Given the description of an element on the screen output the (x, y) to click on. 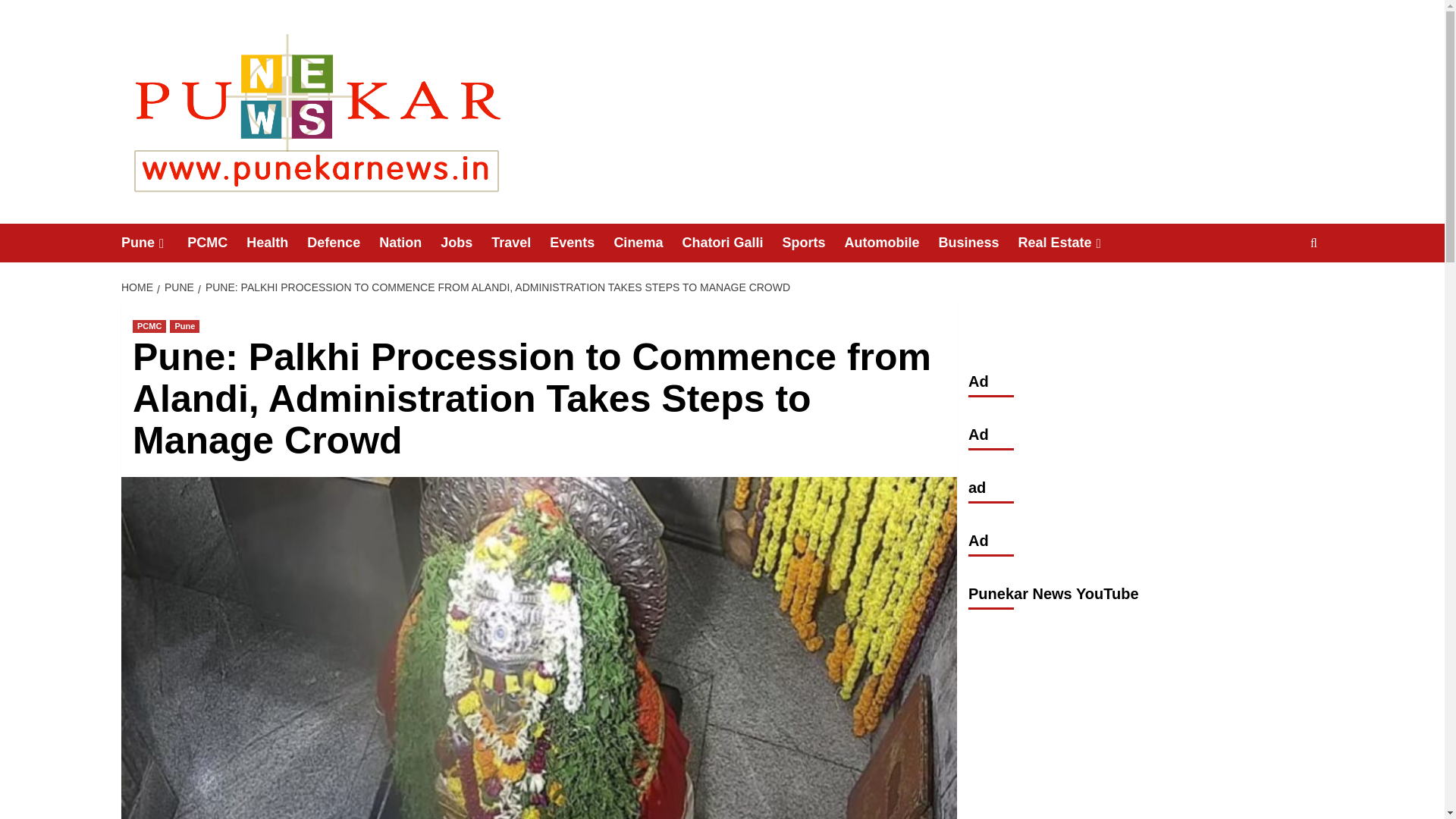
Events (581, 242)
PUNE (177, 287)
Chatori Galli (731, 242)
Health (276, 242)
Nation (409, 242)
Sports (812, 242)
Business (977, 242)
Jobs (466, 242)
Search (1278, 289)
